Given the description of an element on the screen output the (x, y) to click on. 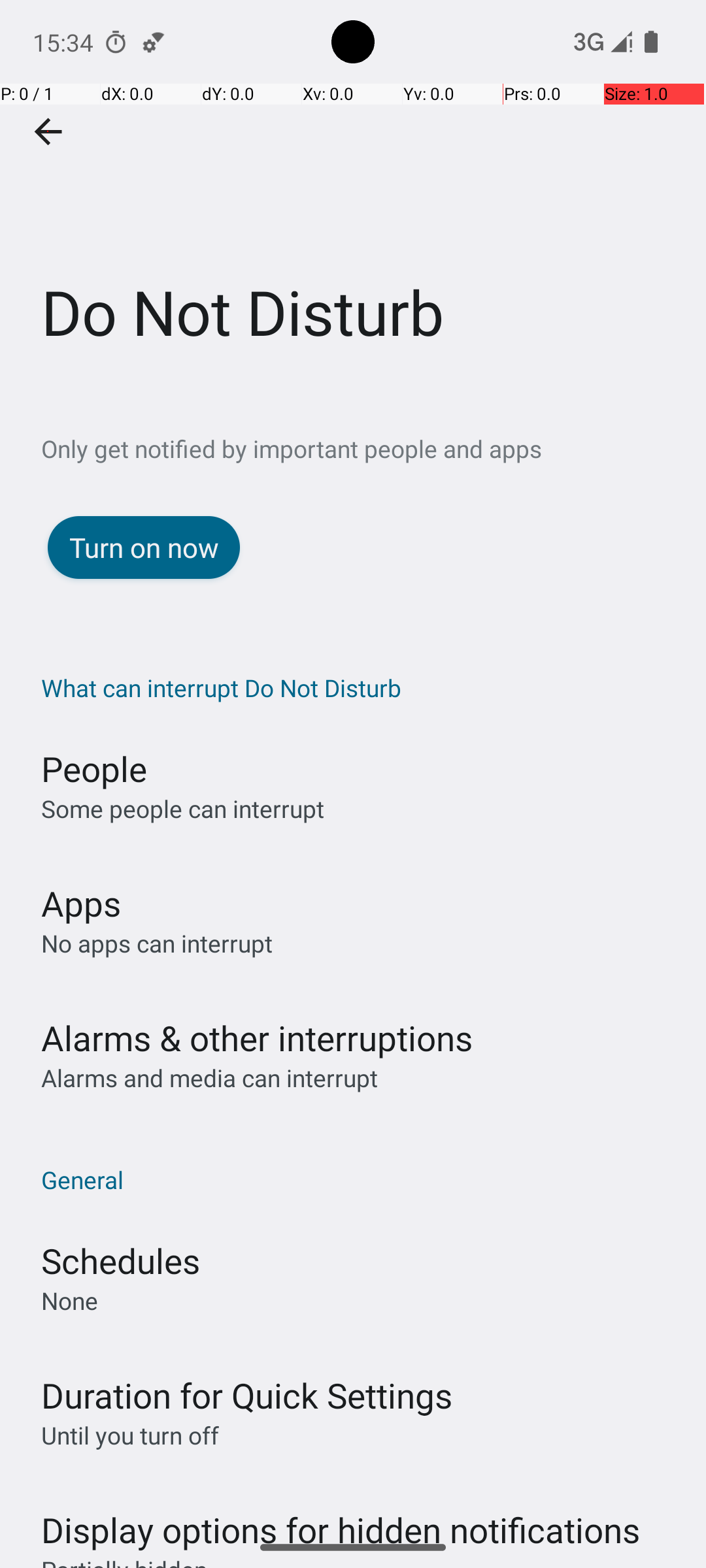
No apps can interrupt Element type: android.widget.TextView (156, 942)
